Given the description of an element on the screen output the (x, y) to click on. 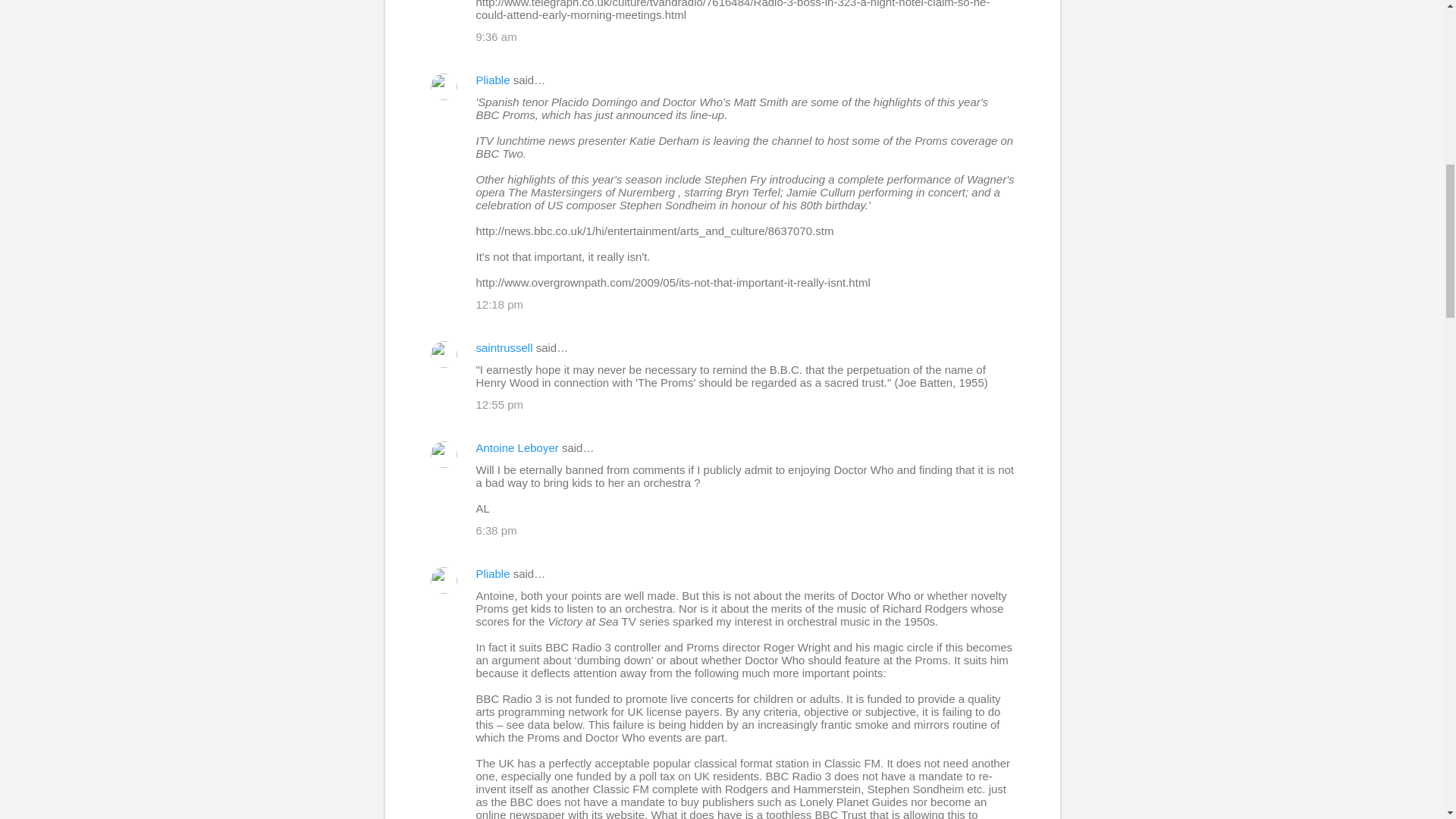
Pliable (493, 573)
saintrussell (504, 347)
6:38 pm (496, 530)
Pliable (493, 79)
12:55 pm (500, 404)
12:18 pm (500, 304)
Antoine Leboyer (517, 447)
comment permalink (496, 36)
9:36 am (496, 36)
